Given the description of an element on the screen output the (x, y) to click on. 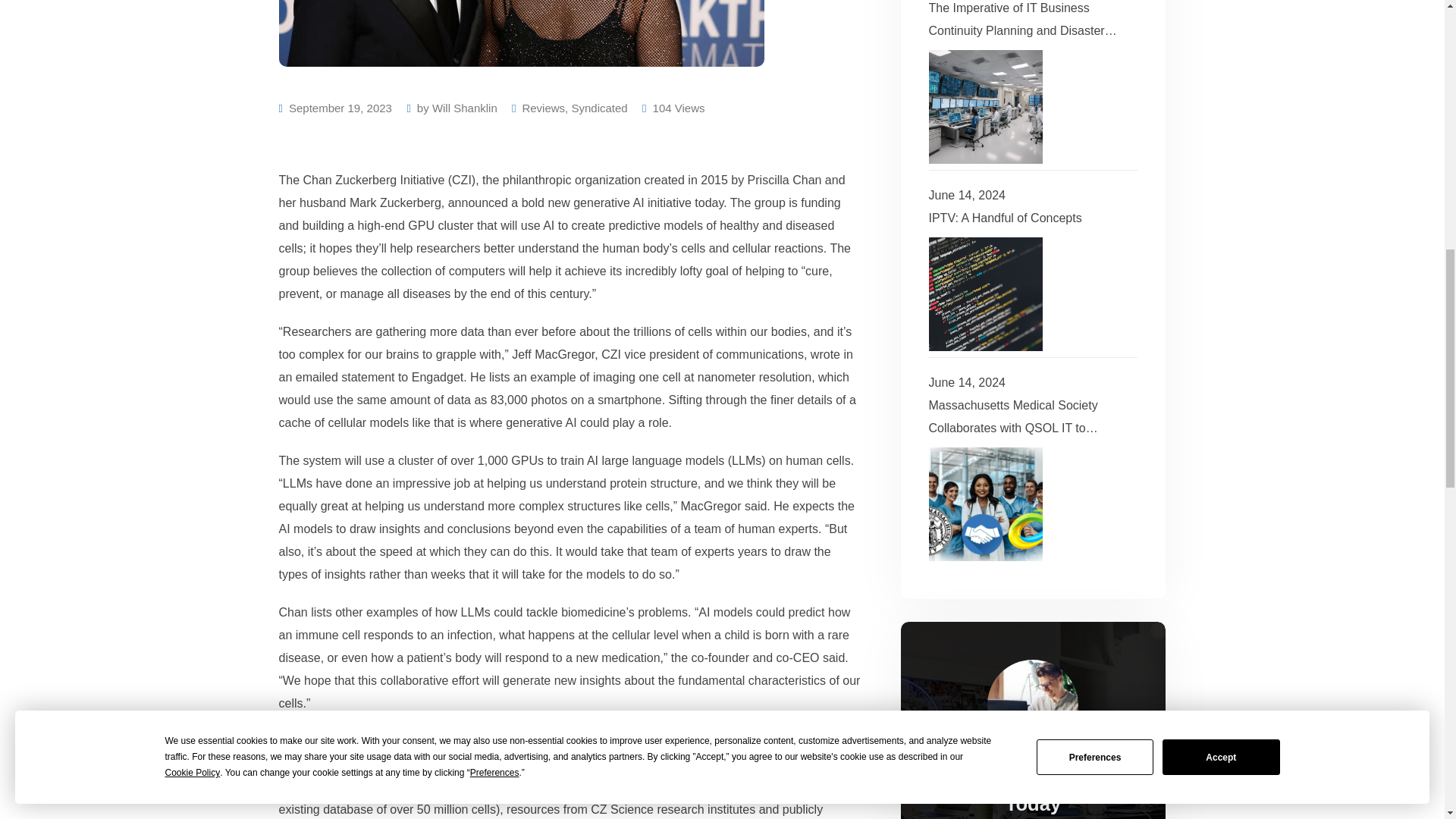
IPTV: A Handful of Concepts (985, 294)
Posts by Will Shanklin (464, 107)
